Given the description of an element on the screen output the (x, y) to click on. 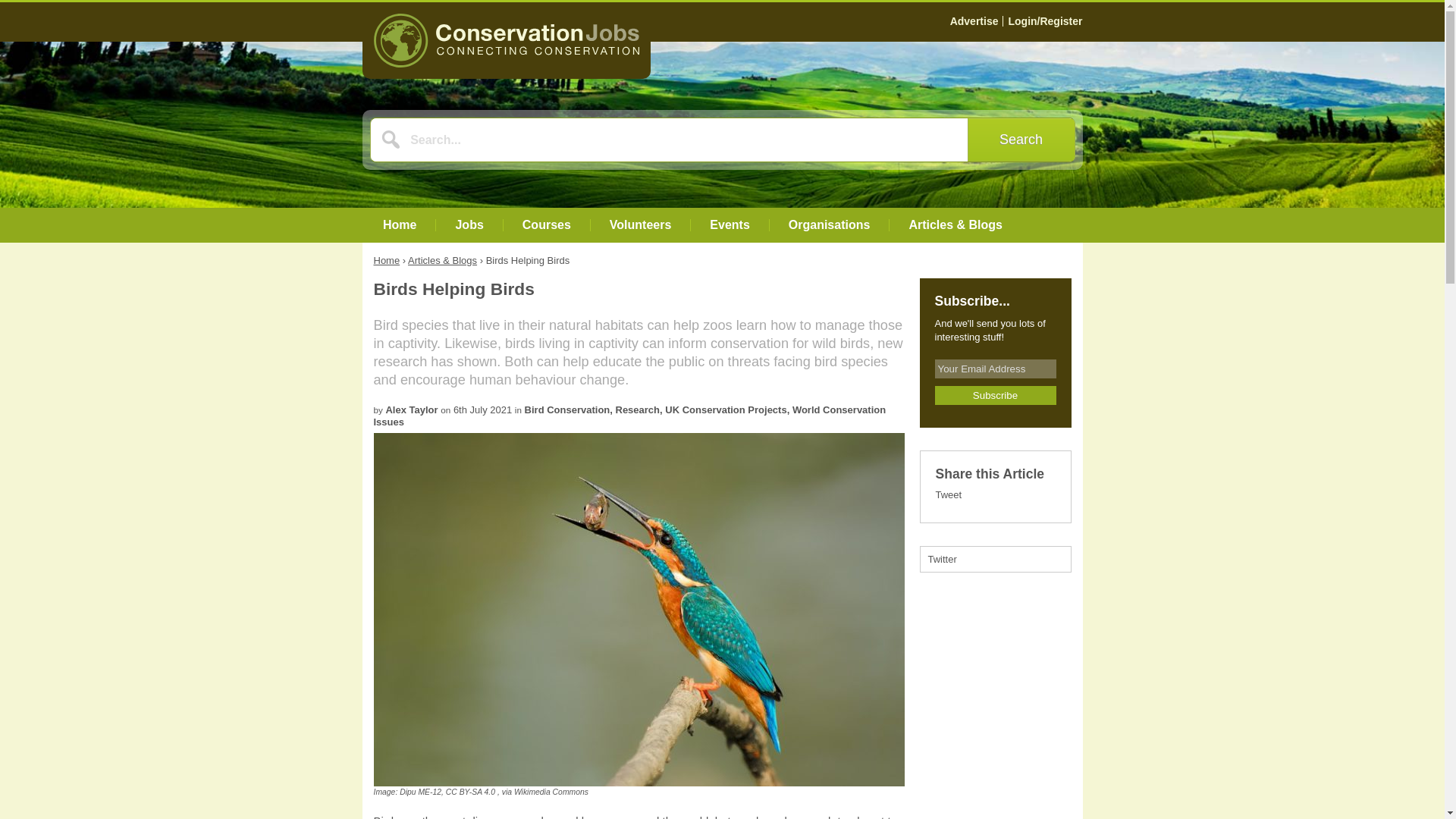
Alex Taylor (411, 409)
Posts by Alex Taylor (411, 409)
Conservation Jobs (506, 43)
Courses (546, 224)
Bird Conservation (567, 409)
Events (729, 224)
Advertise (974, 21)
Volunteers (640, 224)
Tweet (949, 494)
Subscribe (994, 394)
